Given the description of an element on the screen output the (x, y) to click on. 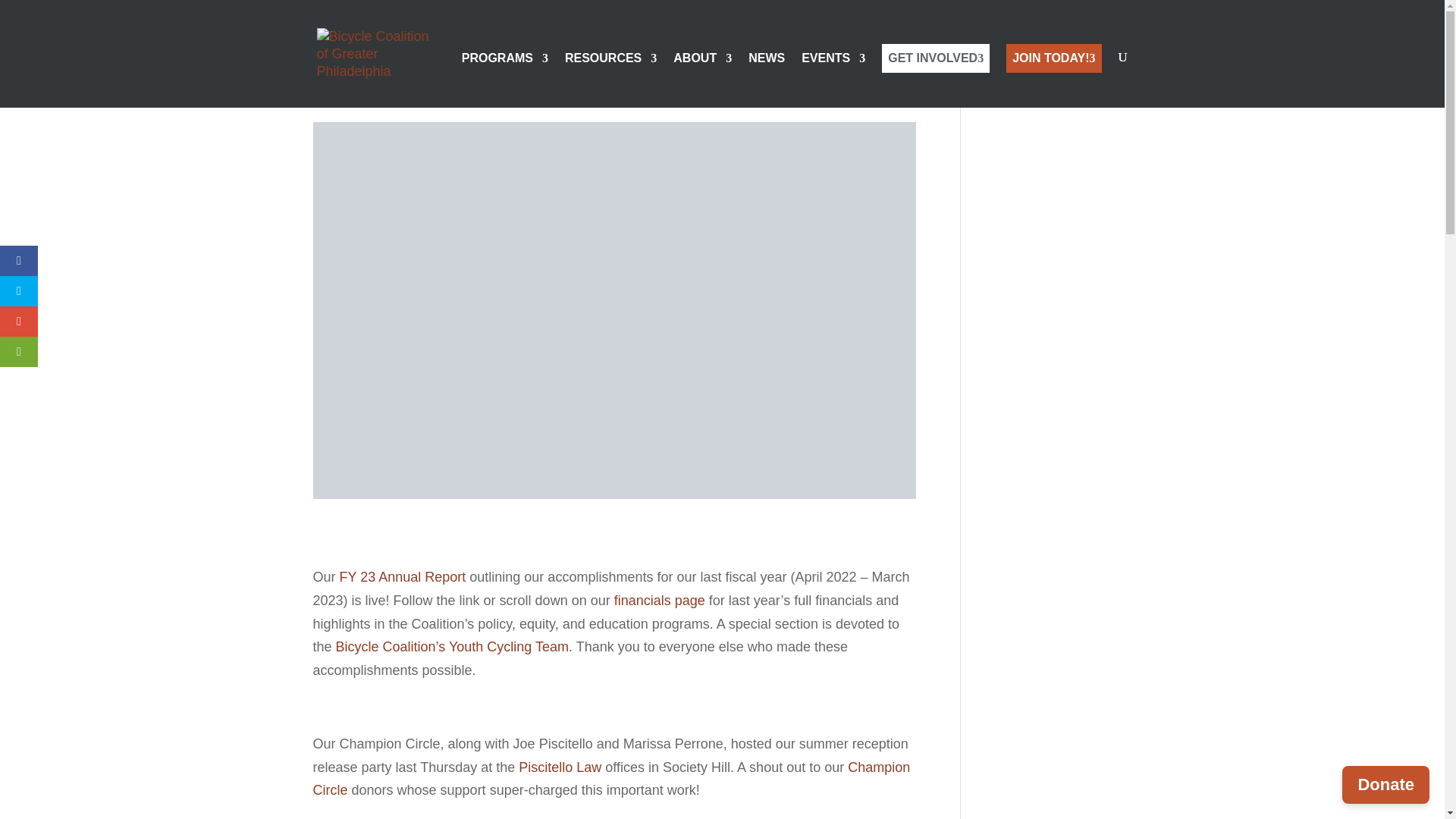
ABOUT (702, 80)
RESOURCES (610, 80)
Posts by Phil Mittereder (360, 94)
NEWS (766, 80)
Search (1106, 85)
PROGRAMS (504, 80)
